Given the description of an element on the screen output the (x, y) to click on. 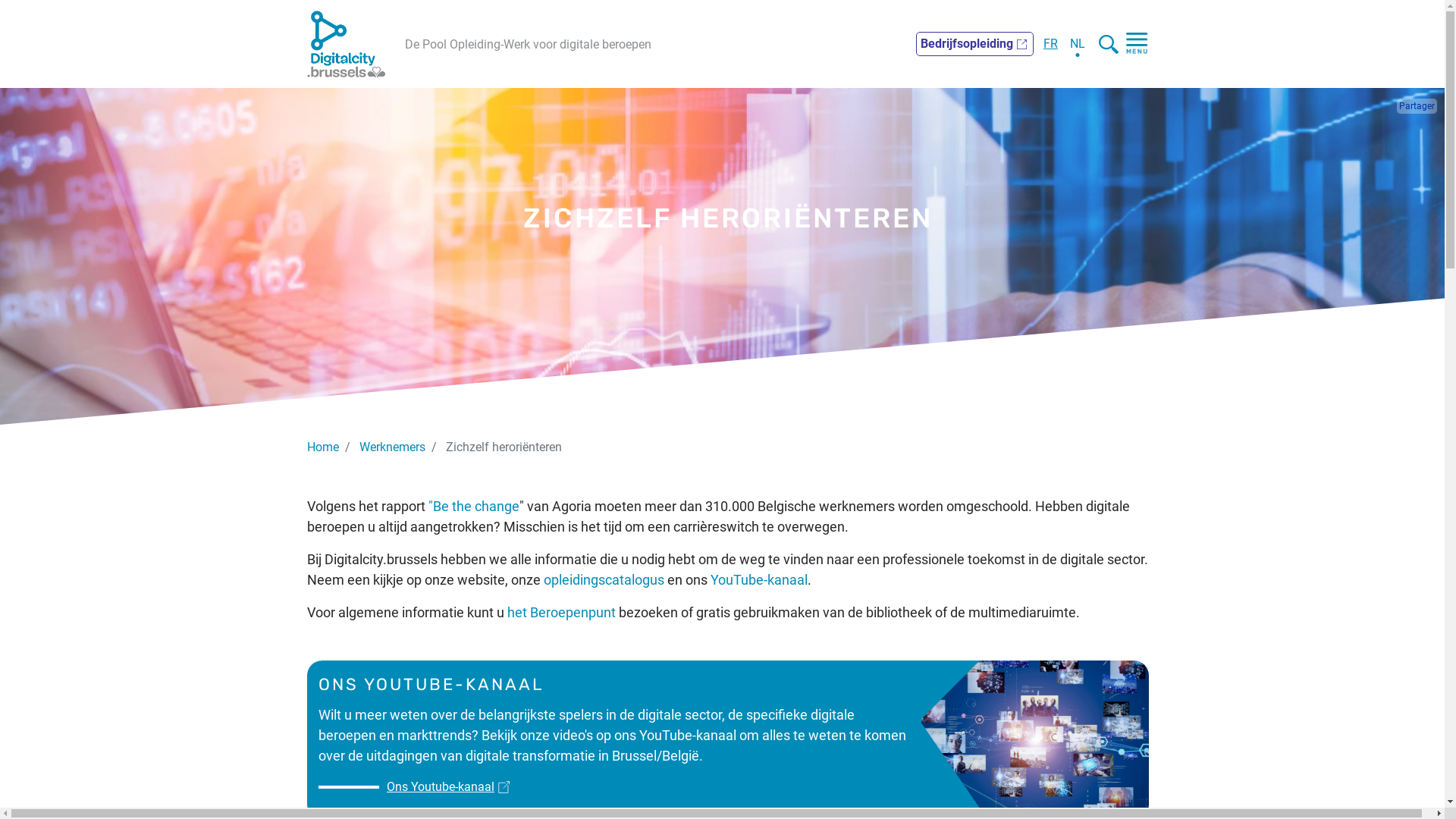
NL Element type: text (1077, 43)
opleidingscatalogus Element type: text (603, 579)
het Beroepenpunt Element type: text (561, 612)
FR Element type: text (1050, 43)
Bedrijfsopleiding Element type: text (974, 43)
YouTube-kanaal Element type: text (758, 579)
Ons Youtube-kanaal Element type: text (406, 787)
Werknemers Element type: text (392, 446)
Home Element type: text (322, 446)
"Be the change Element type: text (472, 506)
